Given the description of an element on the screen output the (x, y) to click on. 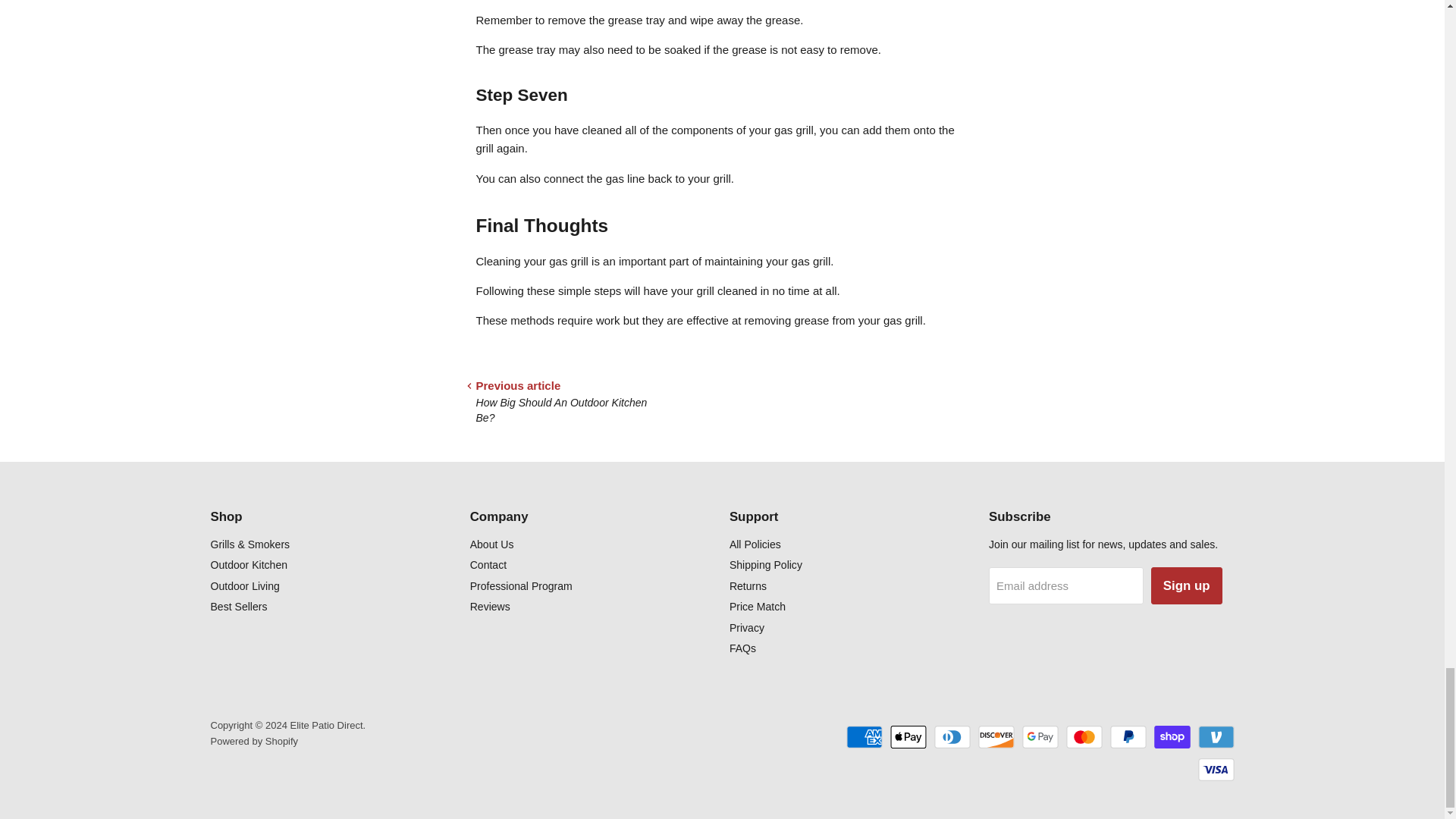
Apple Pay (907, 736)
Discover (996, 736)
Mastercard (1083, 736)
Google Pay (1040, 736)
PayPal (1128, 736)
American Express (863, 736)
Diners Club (952, 736)
